Given the description of an element on the screen output the (x, y) to click on. 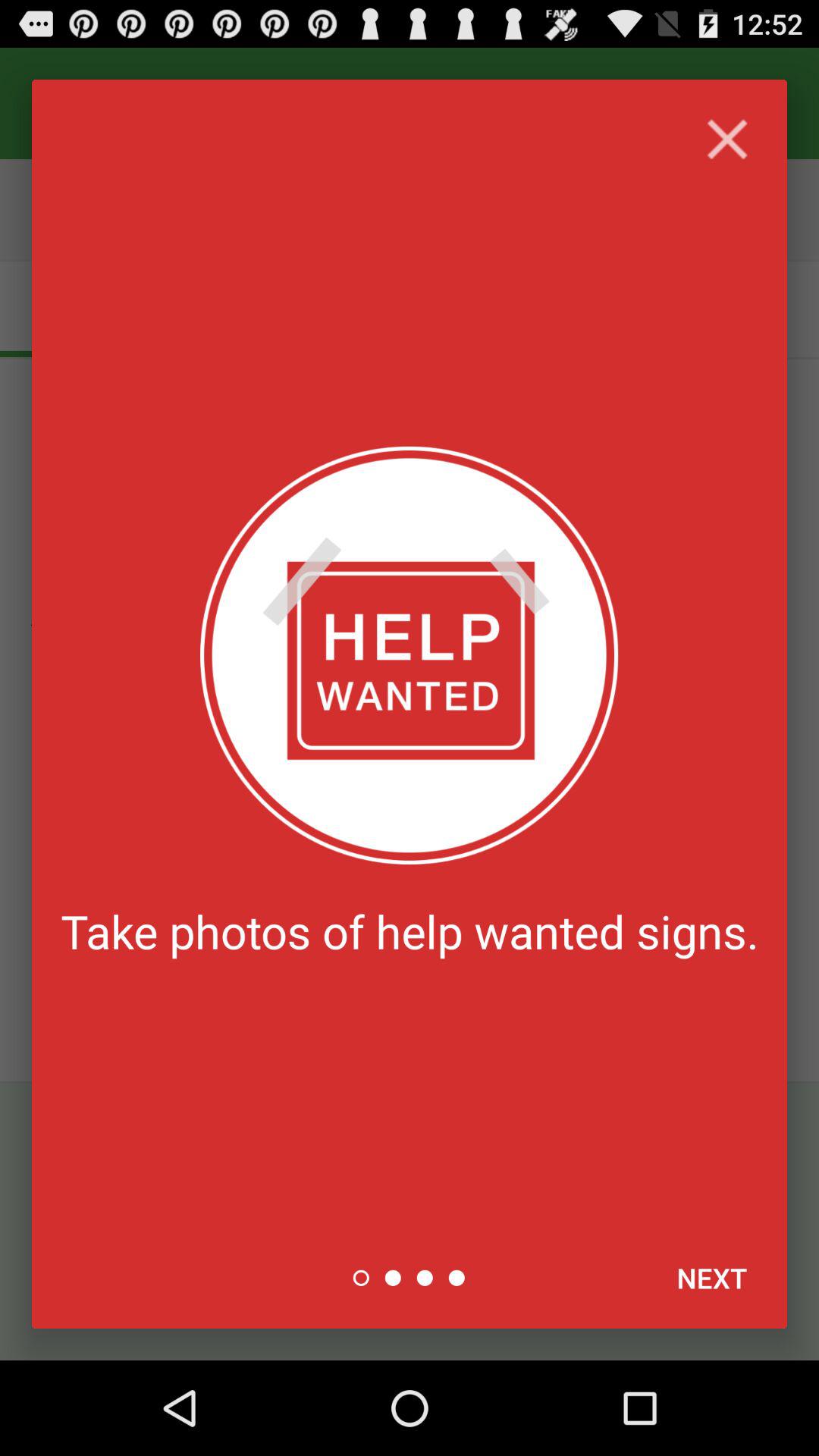
scroll to next item (711, 1277)
